Given the description of an element on the screen output the (x, y) to click on. 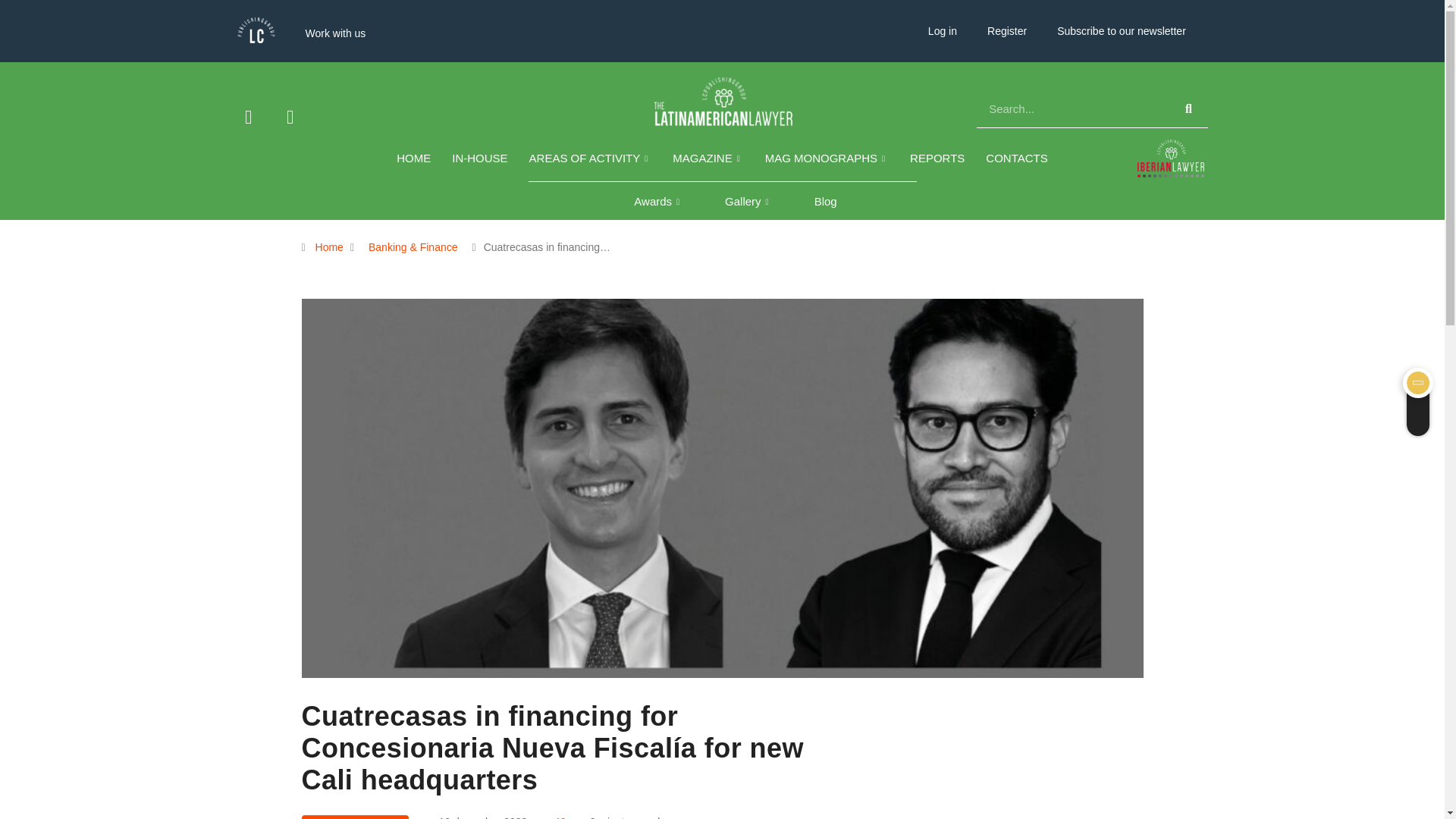
Log in (942, 30)
Subscribe to our newsletter (1121, 30)
Register (1007, 30)
Work with us (334, 33)
HOME (413, 158)
